Given the description of an element on the screen output the (x, y) to click on. 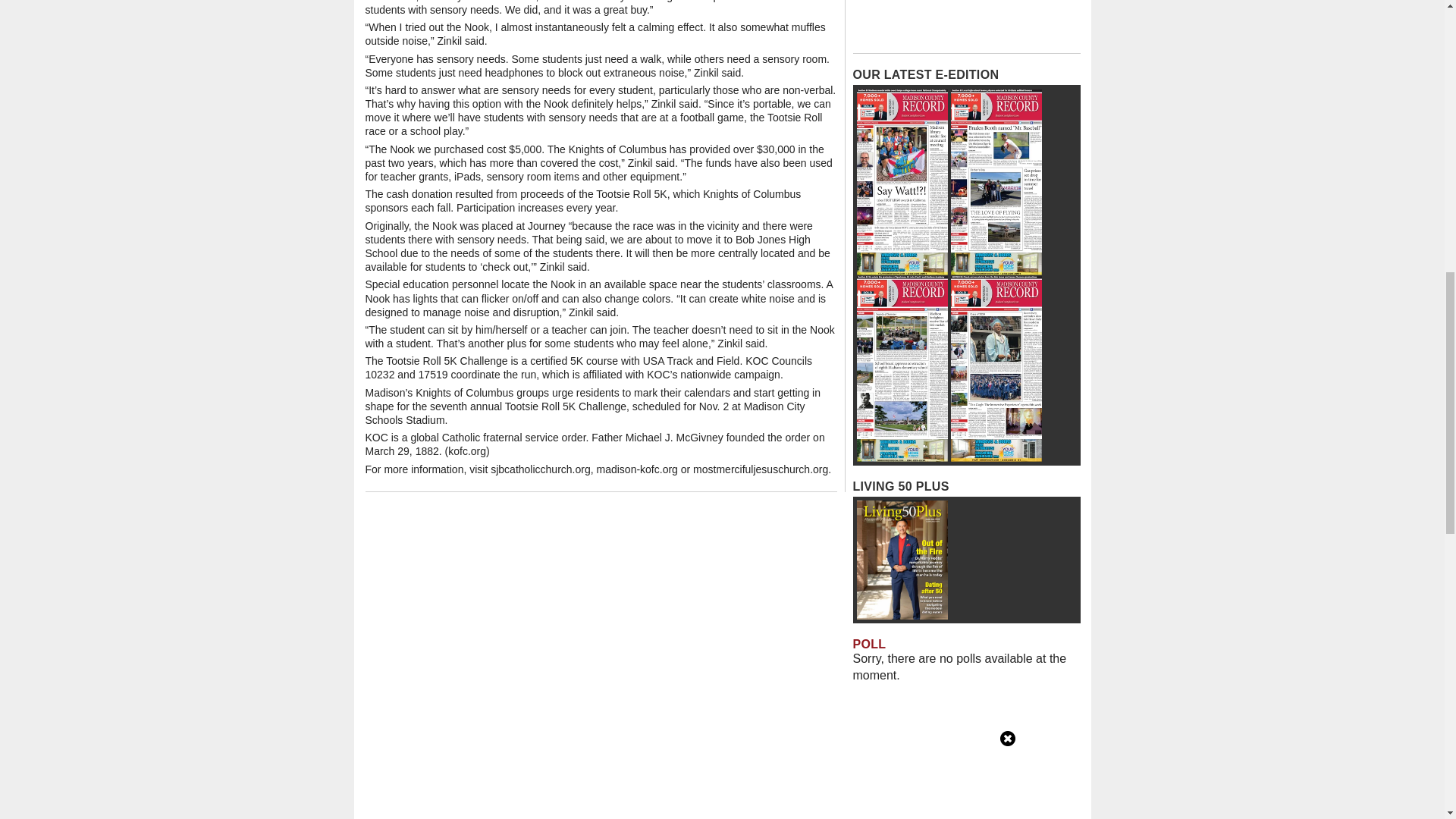
OUR LATEST E-EDITION (924, 74)
3rd party ad content (965, 22)
